Given the description of an element on the screen output the (x, y) to click on. 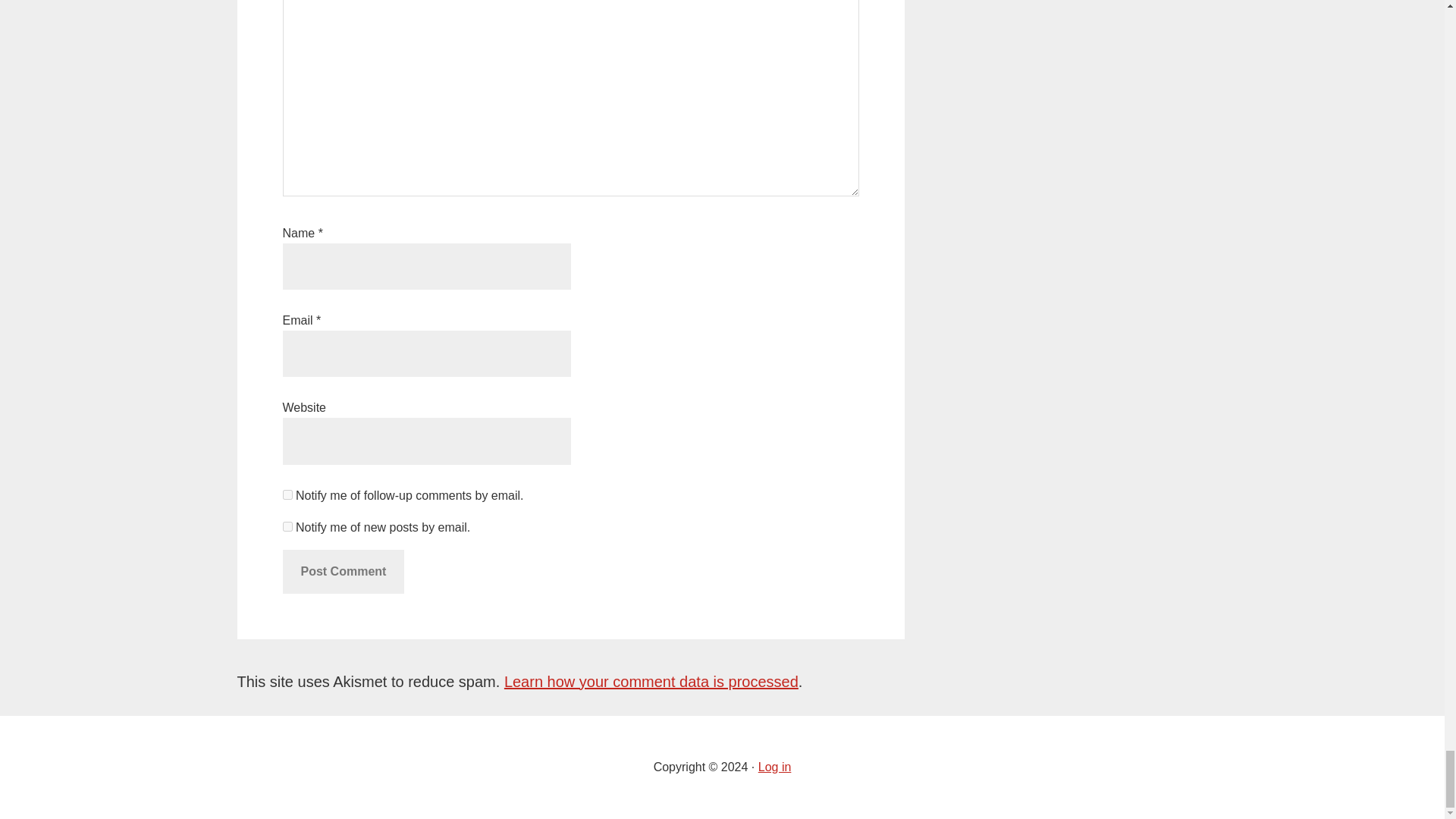
subscribe (287, 526)
subscribe (287, 494)
Post Comment (343, 571)
